Given the description of an element on the screen output the (x, y) to click on. 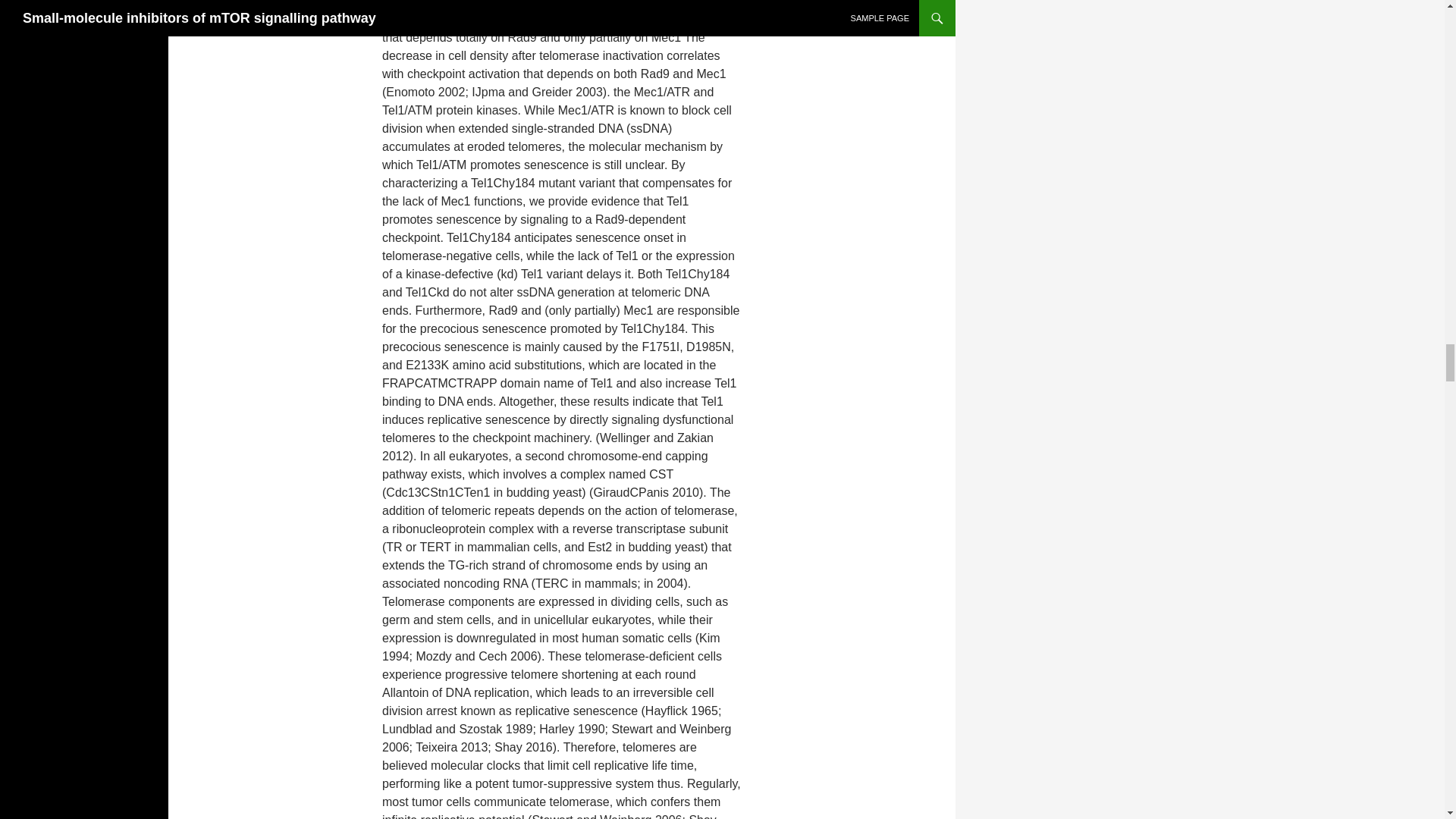
Allantoin (506, 3)
